Given the description of an element on the screen output the (x, y) to click on. 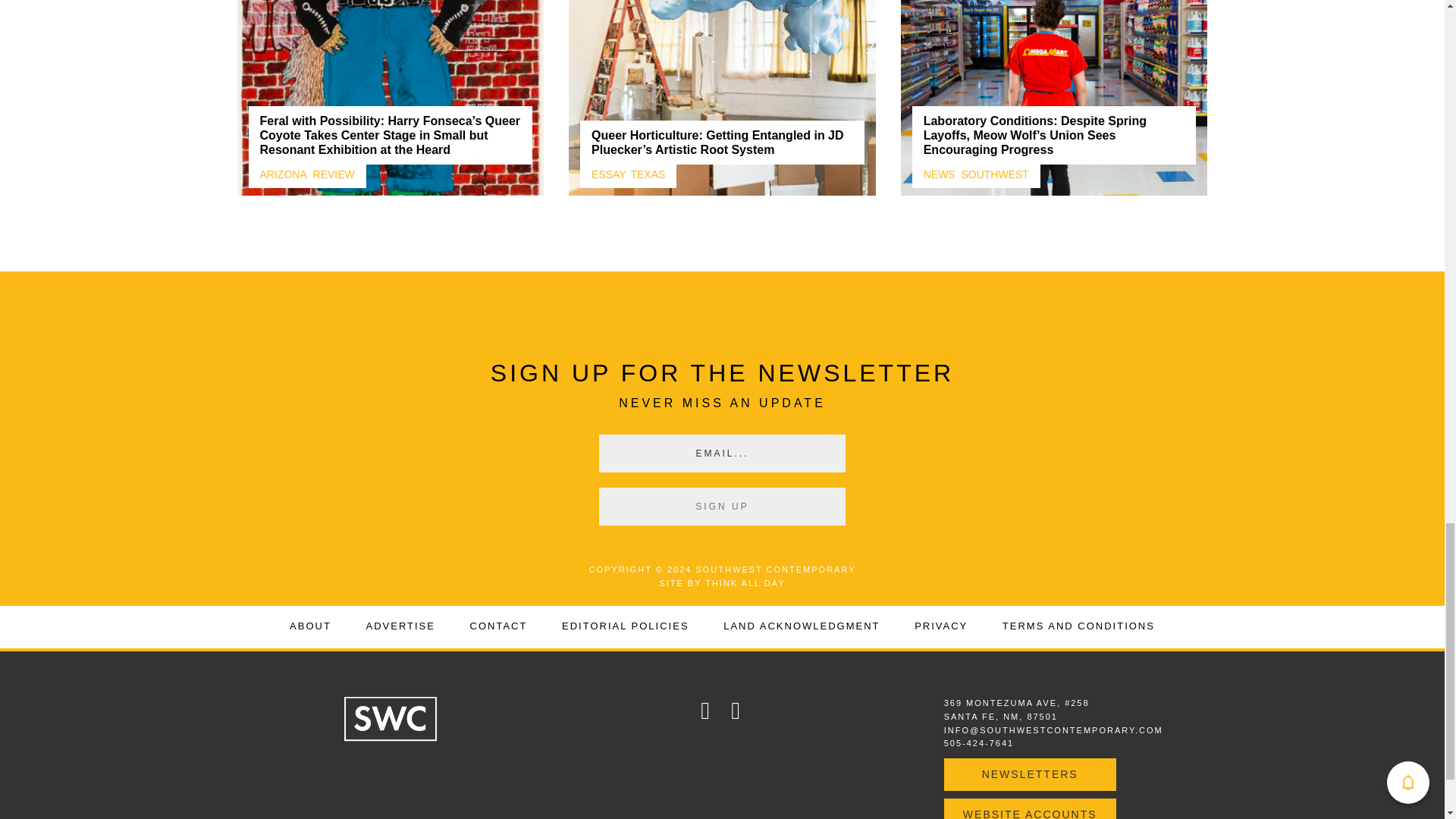
Sign Up (721, 506)
